Given the description of an element on the screen output the (x, y) to click on. 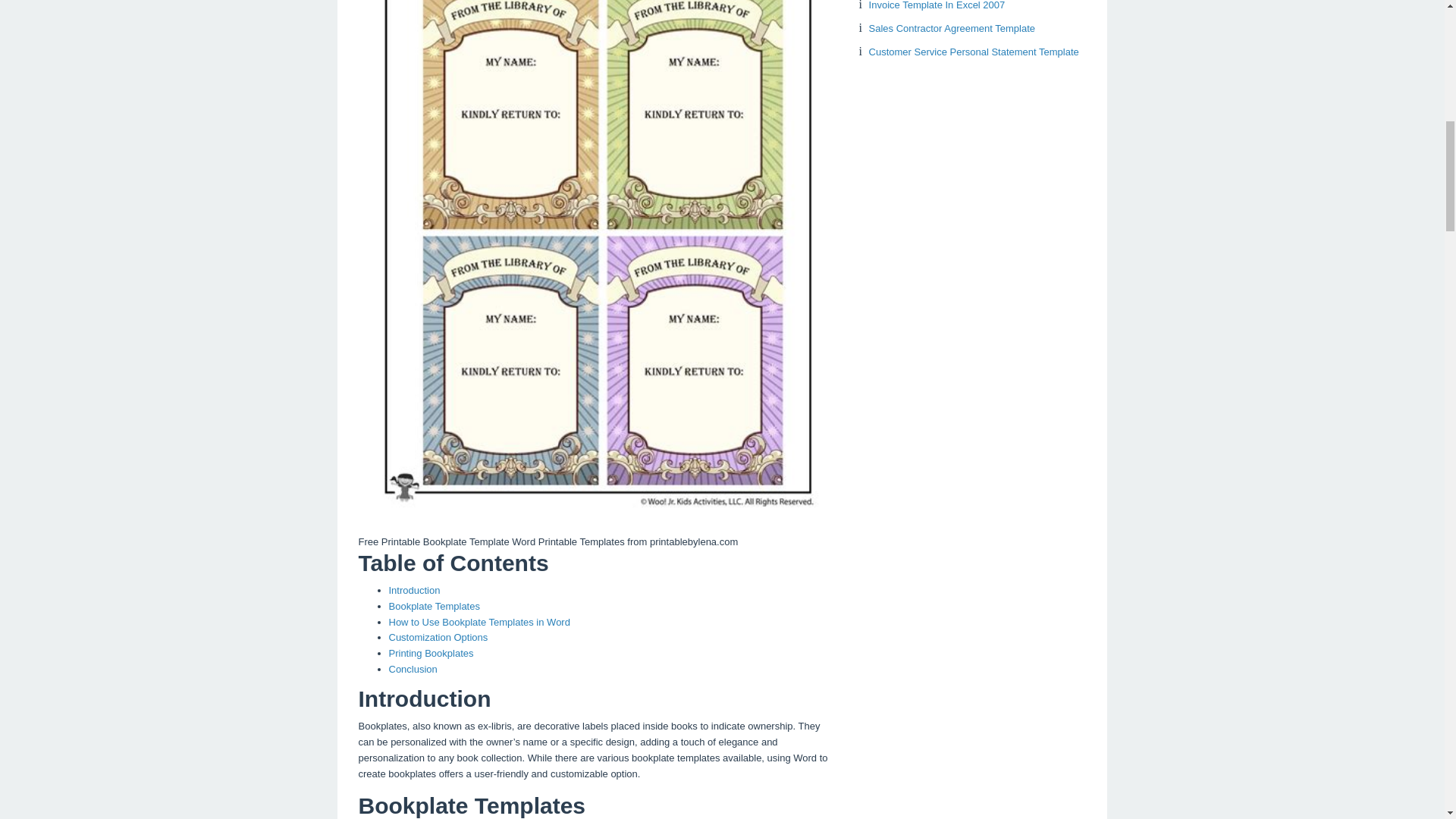
Customization Options (437, 636)
Invoice Template In Excel 2007 (937, 5)
Bookplate Templates (433, 605)
Introduction (413, 590)
How to Use Bookplate Templates in Word (478, 621)
Printing Bookplates (430, 653)
Sales Contractor Agreement Template (952, 28)
Conclusion (412, 668)
